Given the description of an element on the screen output the (x, y) to click on. 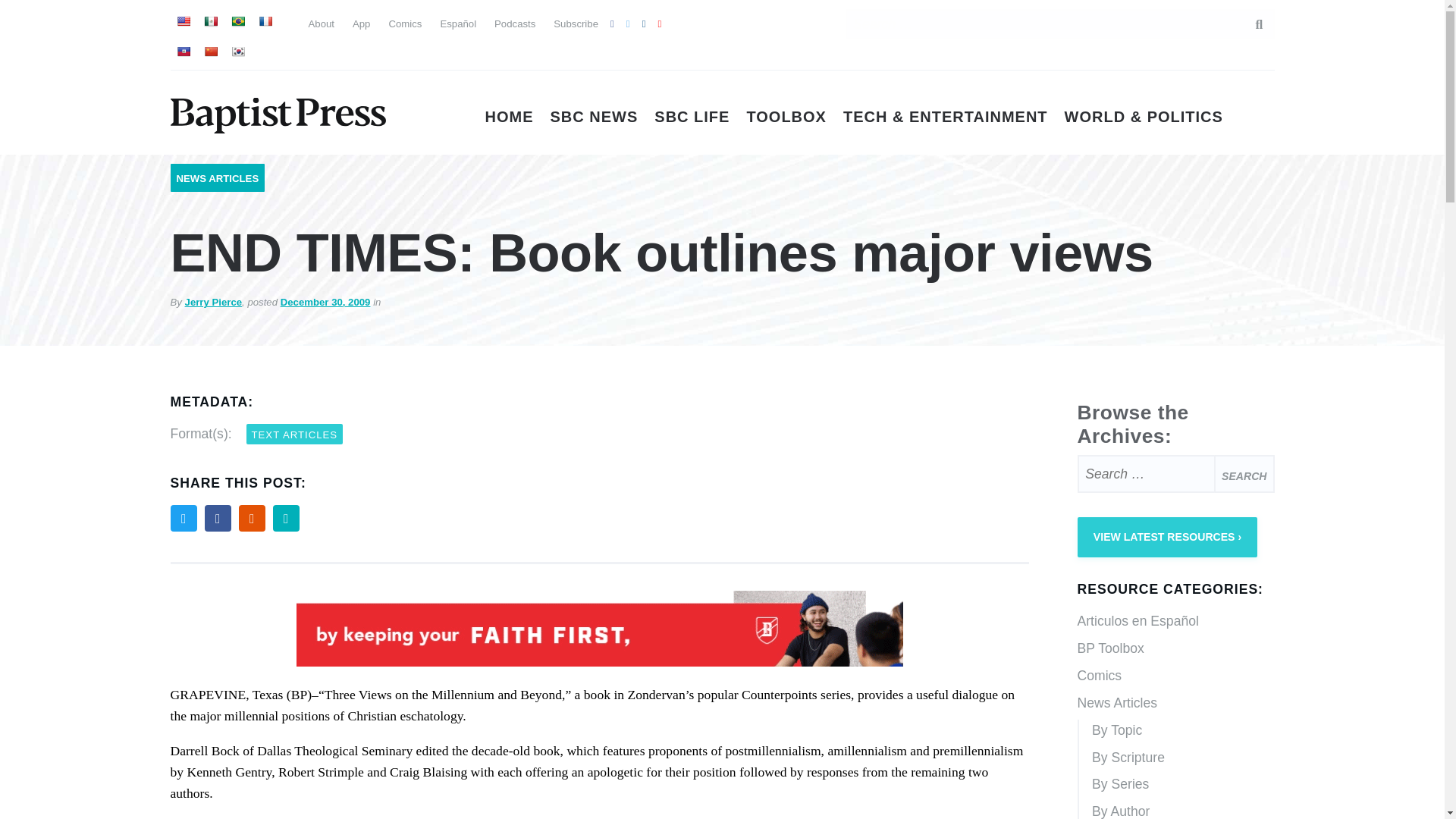
SBC NEWS (594, 116)
Jerry Pierce (213, 301)
App (360, 23)
French (263, 21)
About (320, 23)
Portuguese (237, 21)
Search (1244, 474)
Spanish (209, 21)
Comics (405, 23)
Subscribe (575, 23)
